Given the description of an element on the screen output the (x, y) to click on. 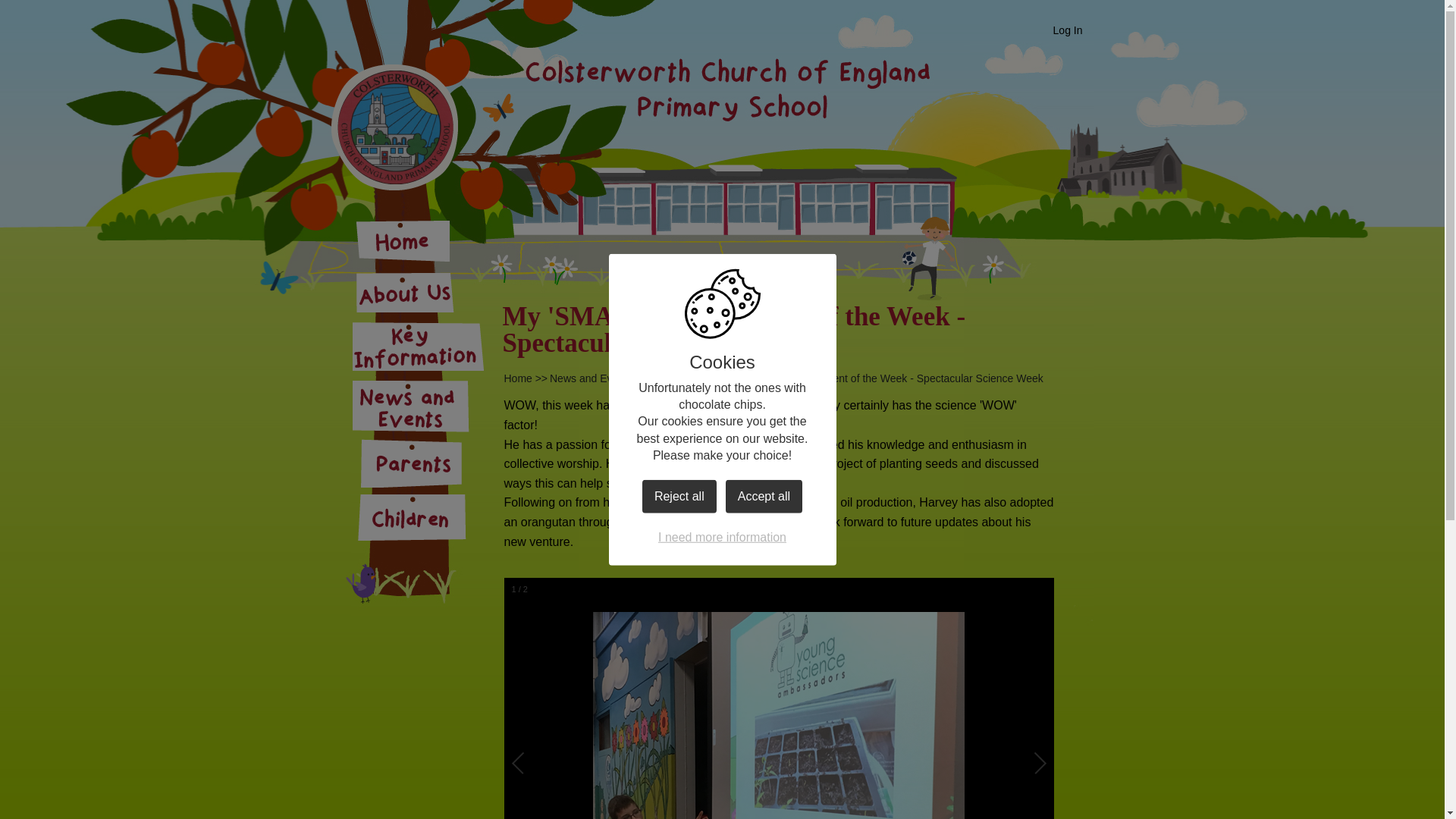
About Us (417, 292)
Home Page (395, 127)
Home (417, 241)
Log In (1067, 30)
Home Page (395, 127)
News and Events (590, 378)
Latest News (678, 378)
Key Information (417, 346)
Home (517, 378)
